Given the description of an element on the screen output the (x, y) to click on. 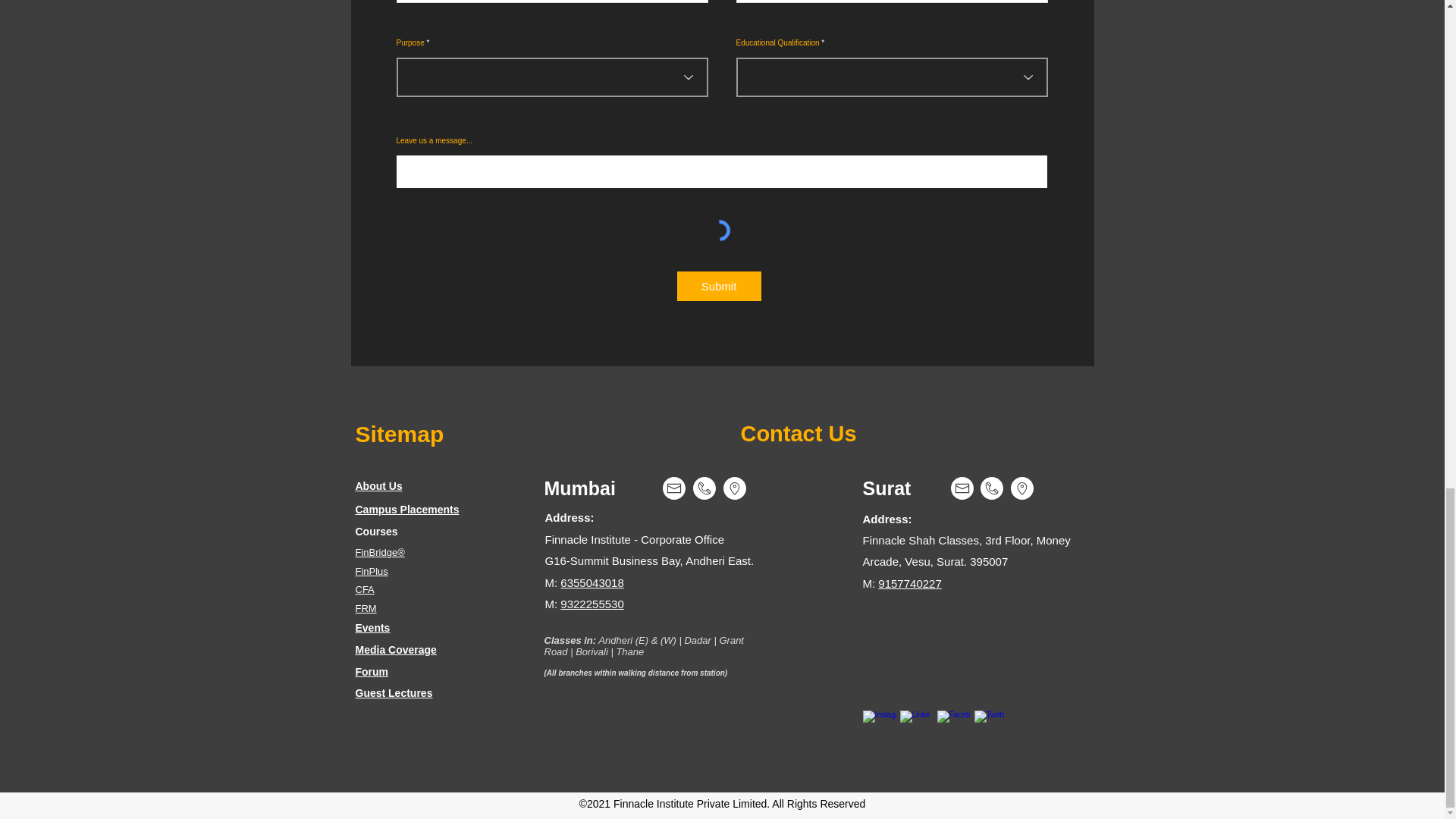
Events (372, 627)
Submit (718, 286)
CFA (364, 589)
About Us (378, 485)
FinPlus (371, 571)
Campus Placements (406, 509)
9322255530 (591, 603)
FRM (365, 608)
9157740227 (908, 583)
Media Coverage (395, 649)
